Given the description of an element on the screen output the (x, y) to click on. 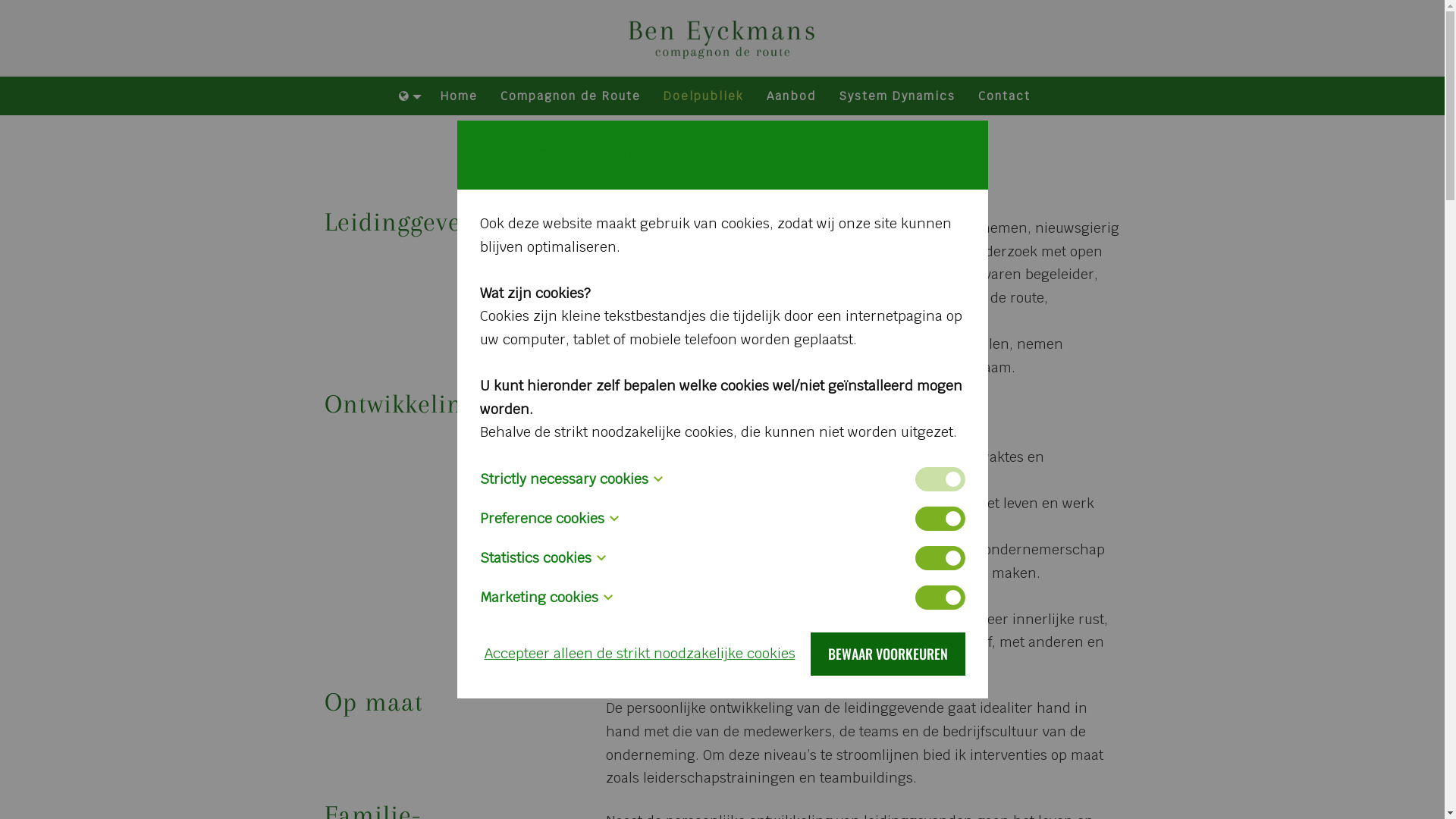
Home Element type: text (459, 96)
Aanbod Element type: text (791, 96)
System Dynamics Element type: text (896, 96)
Doelpubliek Element type: text (703, 96)
Contact Element type: text (1003, 96)
Compagnon de Route Element type: text (570, 96)
